Given the description of an element on the screen output the (x, y) to click on. 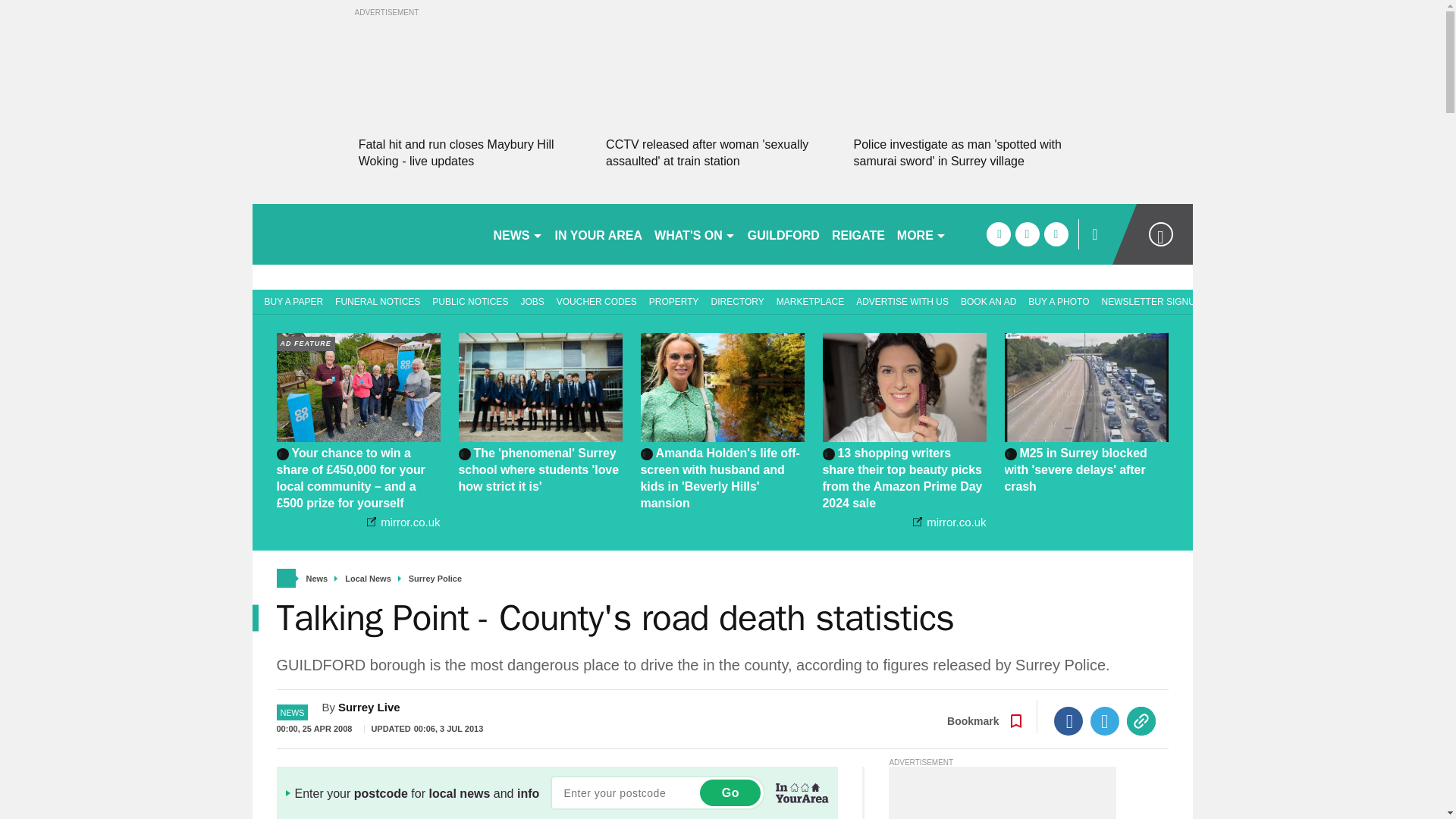
instagram (1055, 233)
Fatal hit and run closes Maybury Hill Woking - live updates (474, 152)
IN YOUR AREA (598, 233)
WHAT'S ON (694, 233)
getsurrey (365, 233)
Fatal hit and run closes Maybury Hill Woking - live updates (474, 152)
Go (730, 792)
NEWS (517, 233)
MORE (921, 233)
REIGATE (858, 233)
facebook (997, 233)
